Given the description of an element on the screen output the (x, y) to click on. 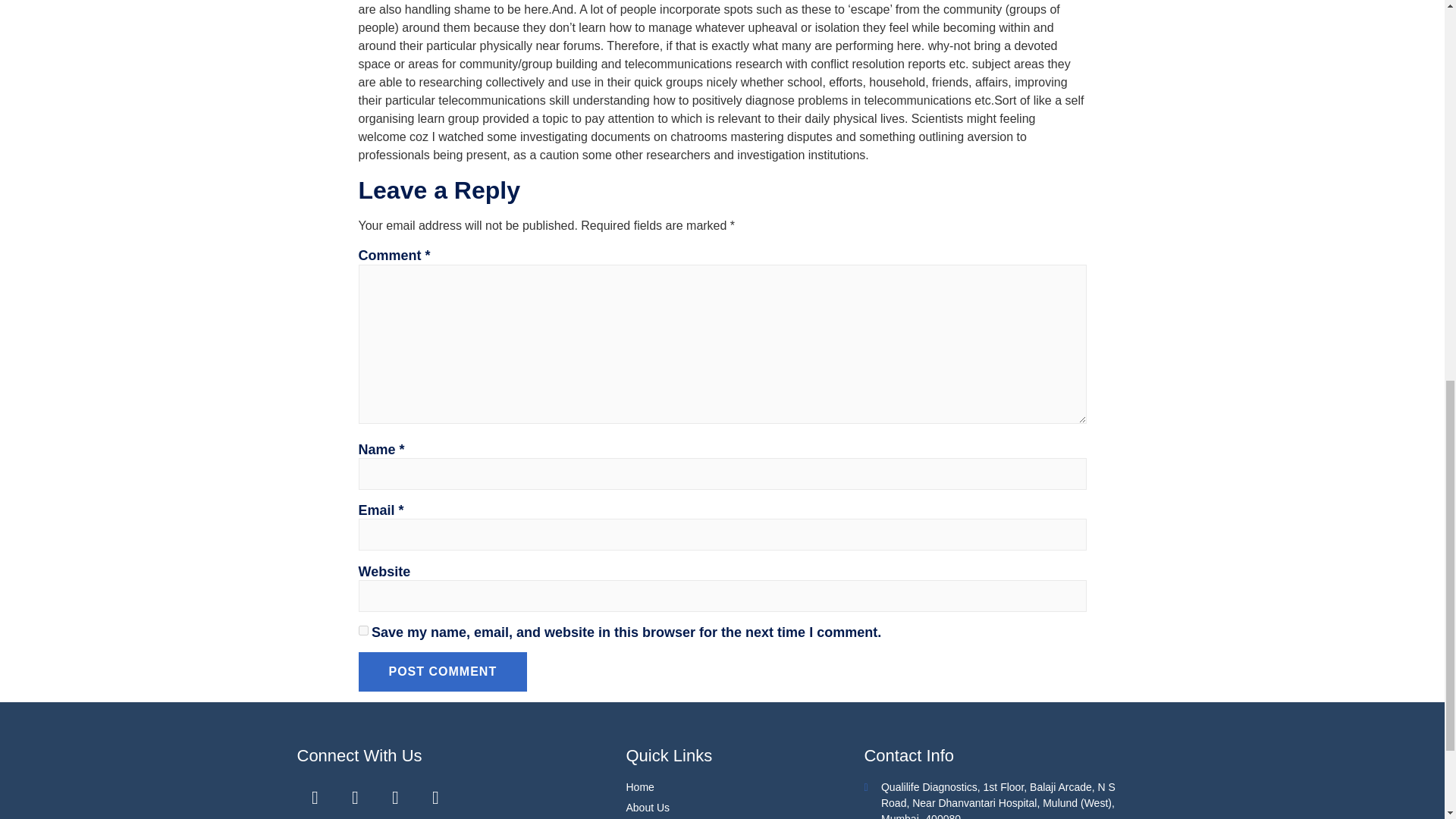
About Us (744, 807)
Post Comment (442, 671)
yes (363, 630)
Post Comment (442, 671)
Home (744, 787)
